Given the description of an element on the screen output the (x, y) to click on. 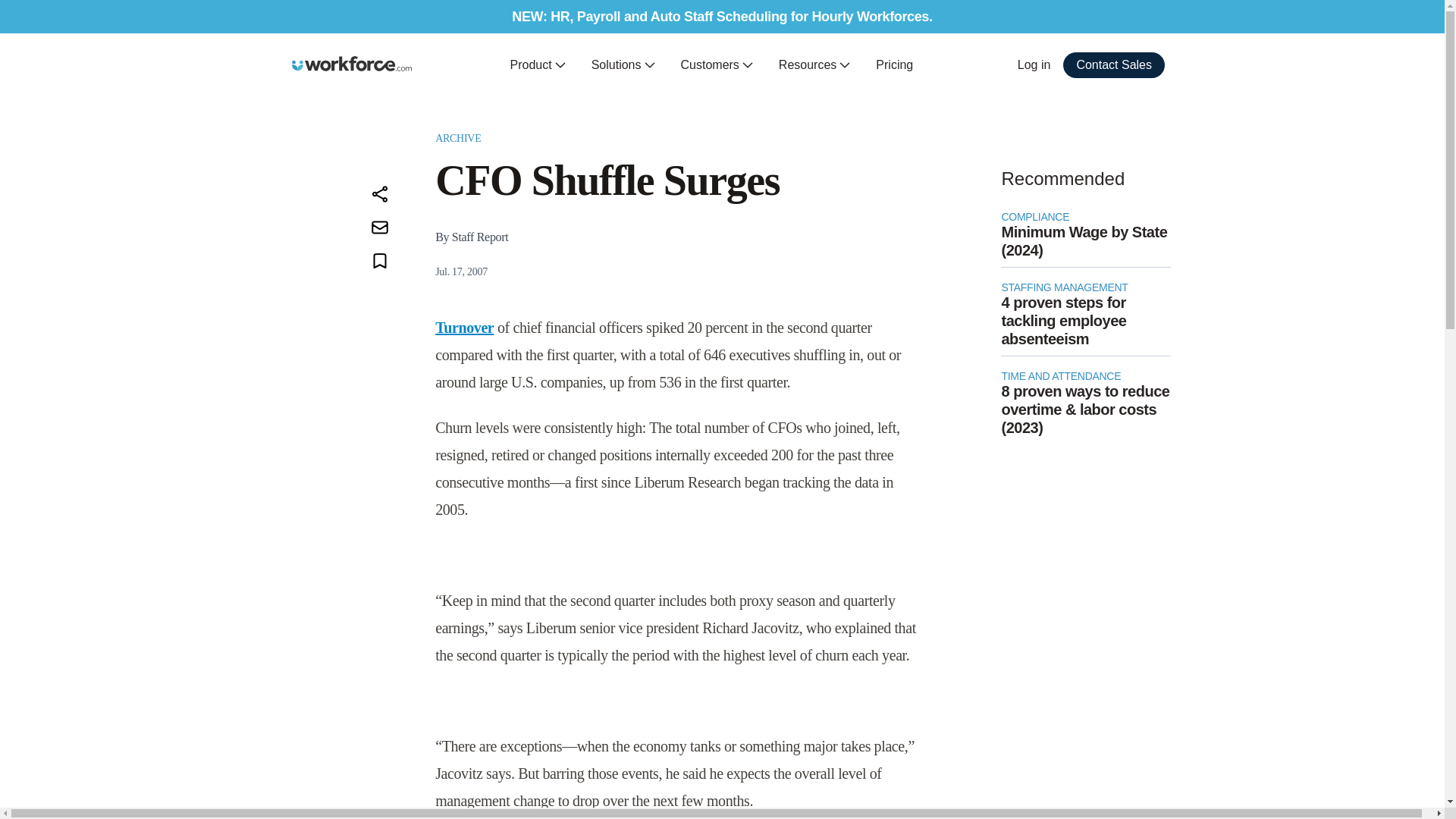
Workforce.com (351, 63)
Solutions (623, 65)
Product (539, 65)
